Given the description of an element on the screen output the (x, y) to click on. 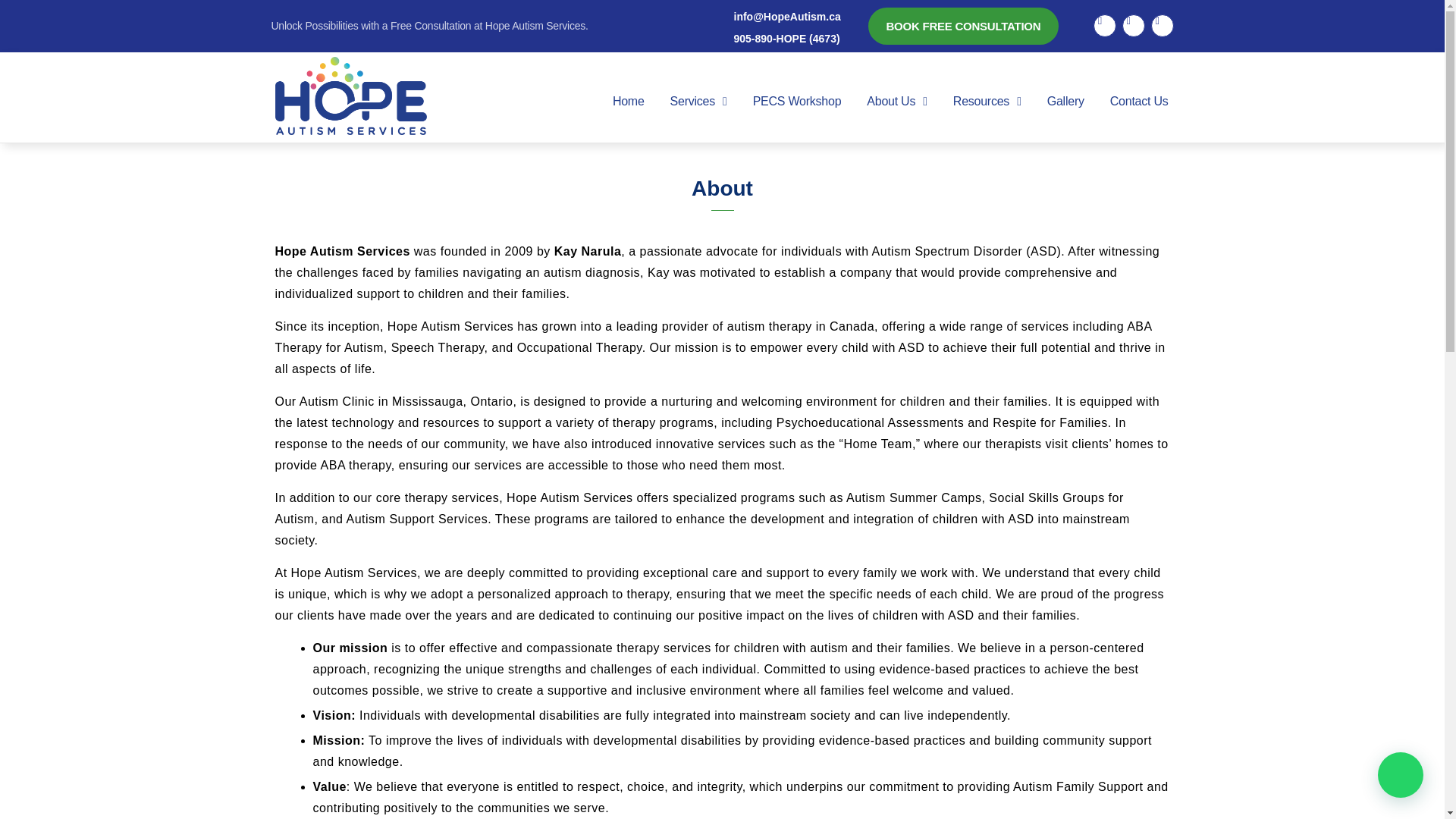
BOOK FREE CONSULTATION (962, 26)
